Given the description of an element on the screen output the (x, y) to click on. 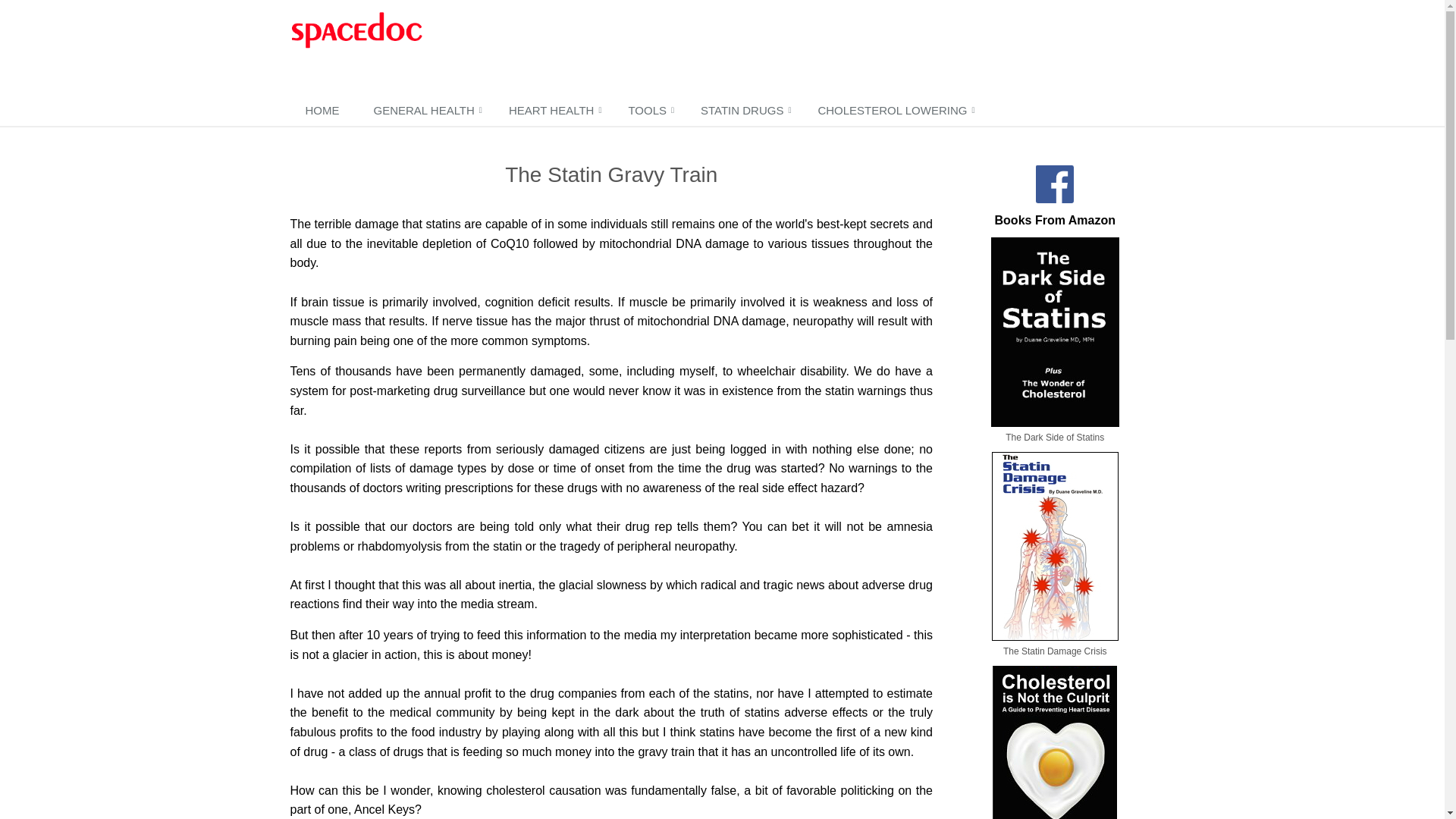
GENERAL HEALTH (425, 111)
Advertisement (739, 48)
HOME (323, 111)
